Given the description of an element on the screen output the (x, y) to click on. 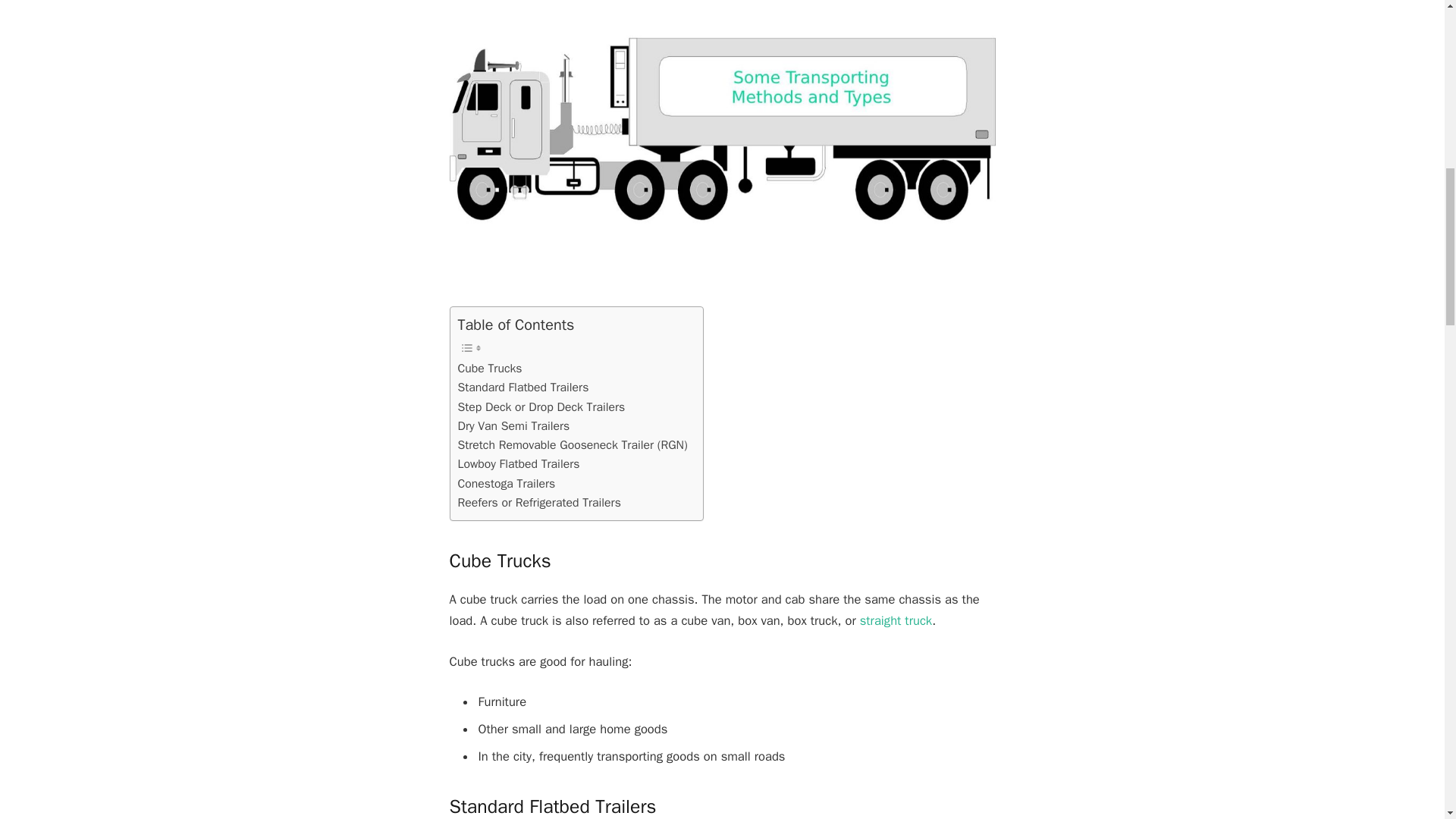
Standard Flatbed Trailers (523, 387)
Step Deck or Drop Deck Trailers (542, 406)
Reefers or Refrigerated Trailers (539, 502)
Standard Flatbed Trailers (523, 387)
Lowboy Flatbed Trailers (518, 464)
Cube Trucks (490, 368)
Cube Trucks (490, 368)
Dry Van Semi Trailers (514, 425)
Conestoga Trailers (507, 484)
straight truck (895, 620)
Step Deck or Drop Deck Trailers (542, 406)
